Given the description of an element on the screen output the (x, y) to click on. 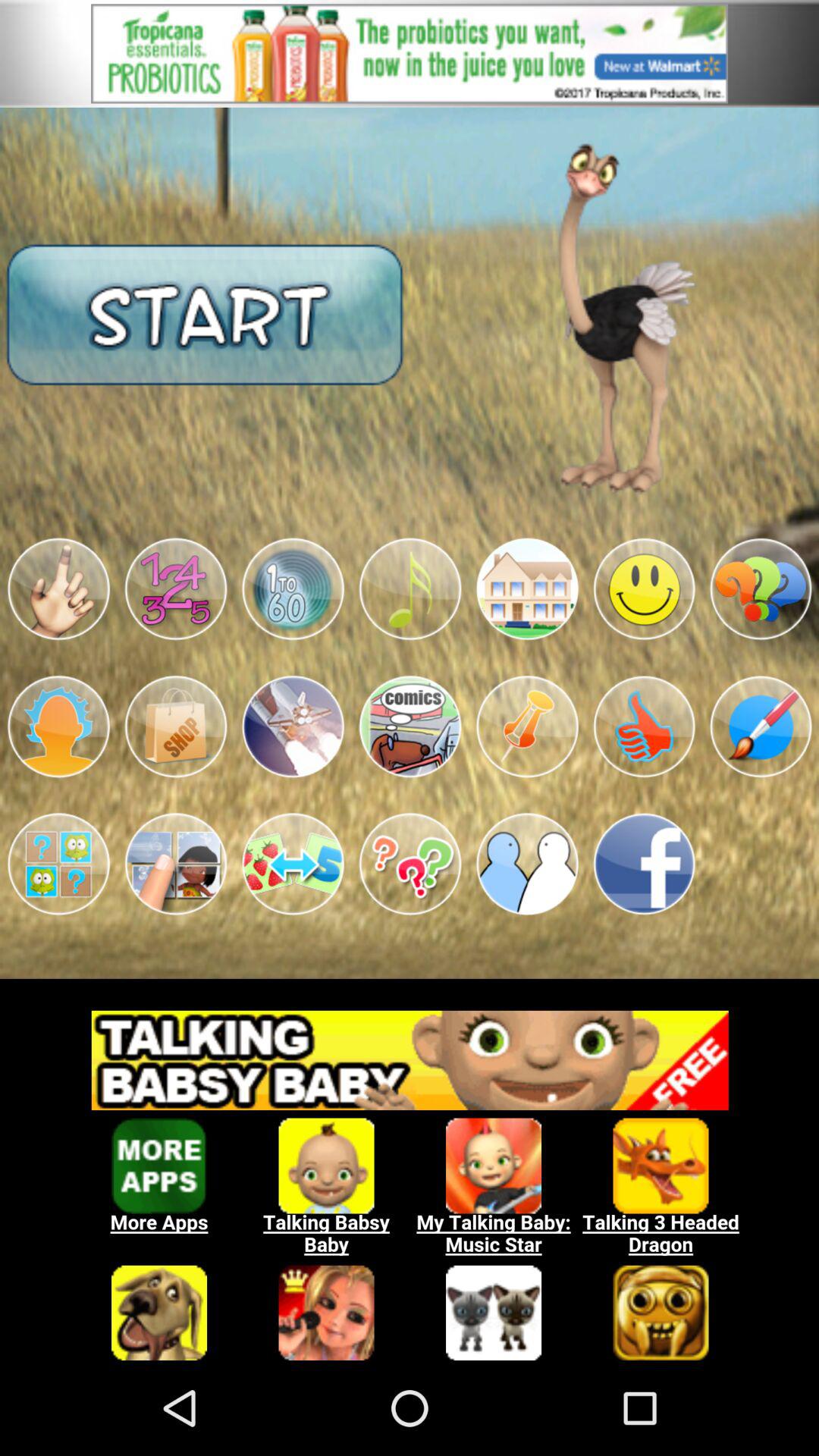
start (204, 313)
